Given the description of an element on the screen output the (x, y) to click on. 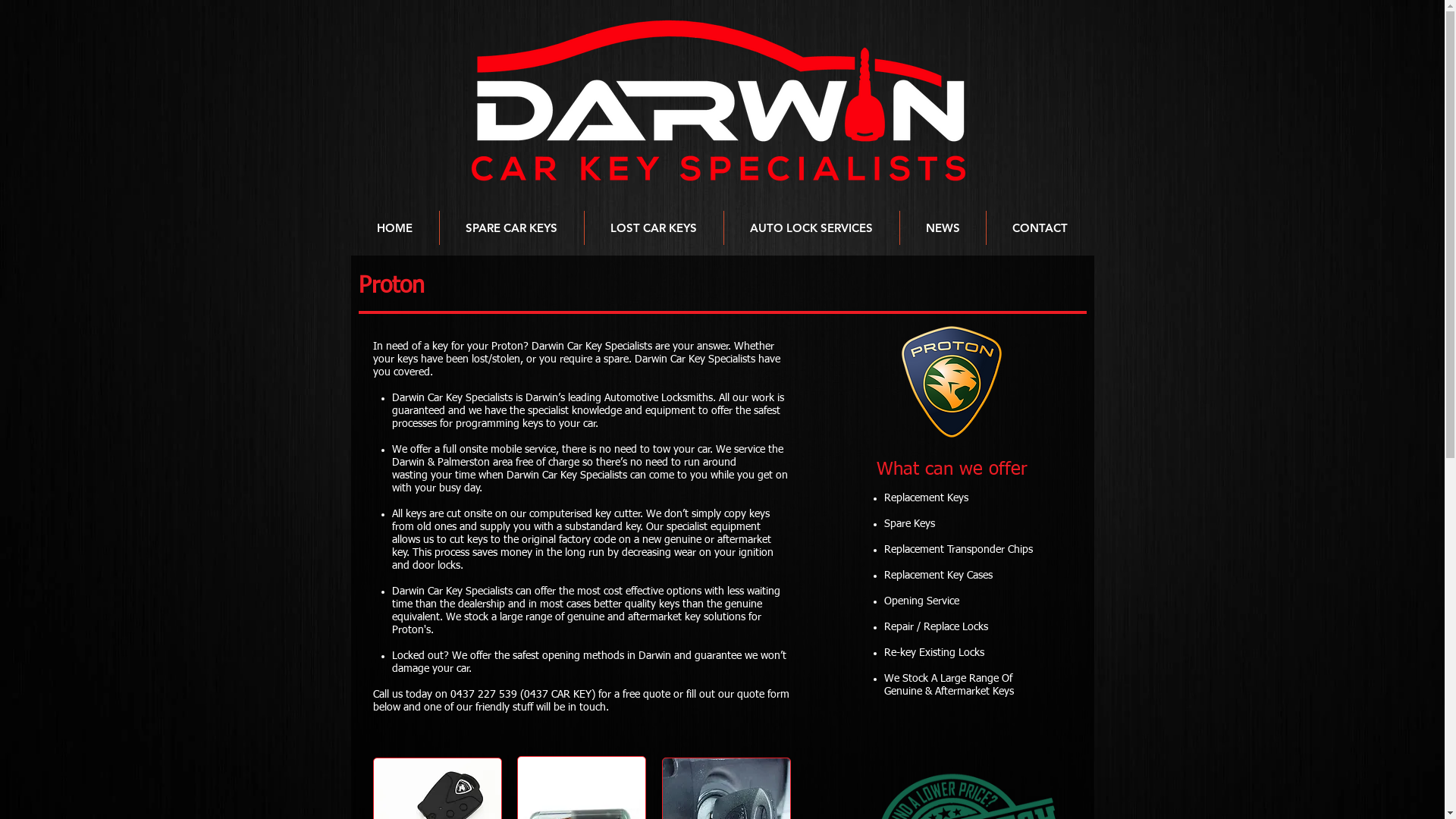
HOME Element type: text (394, 227)
NEWS Element type: text (942, 227)
2000px-Proton_Logo.svg.png Element type: hover (951, 381)
darwin-full-color-transparent-bg-2_edited.png Element type: hover (717, 101)
CONTACT Element type: text (1038, 227)
SPARE CAR KEYS Element type: text (511, 227)
AUTO LOCK SERVICES Element type: text (810, 227)
LOST CAR KEYS Element type: text (652, 227)
